Given the description of an element on the screen output the (x, y) to click on. 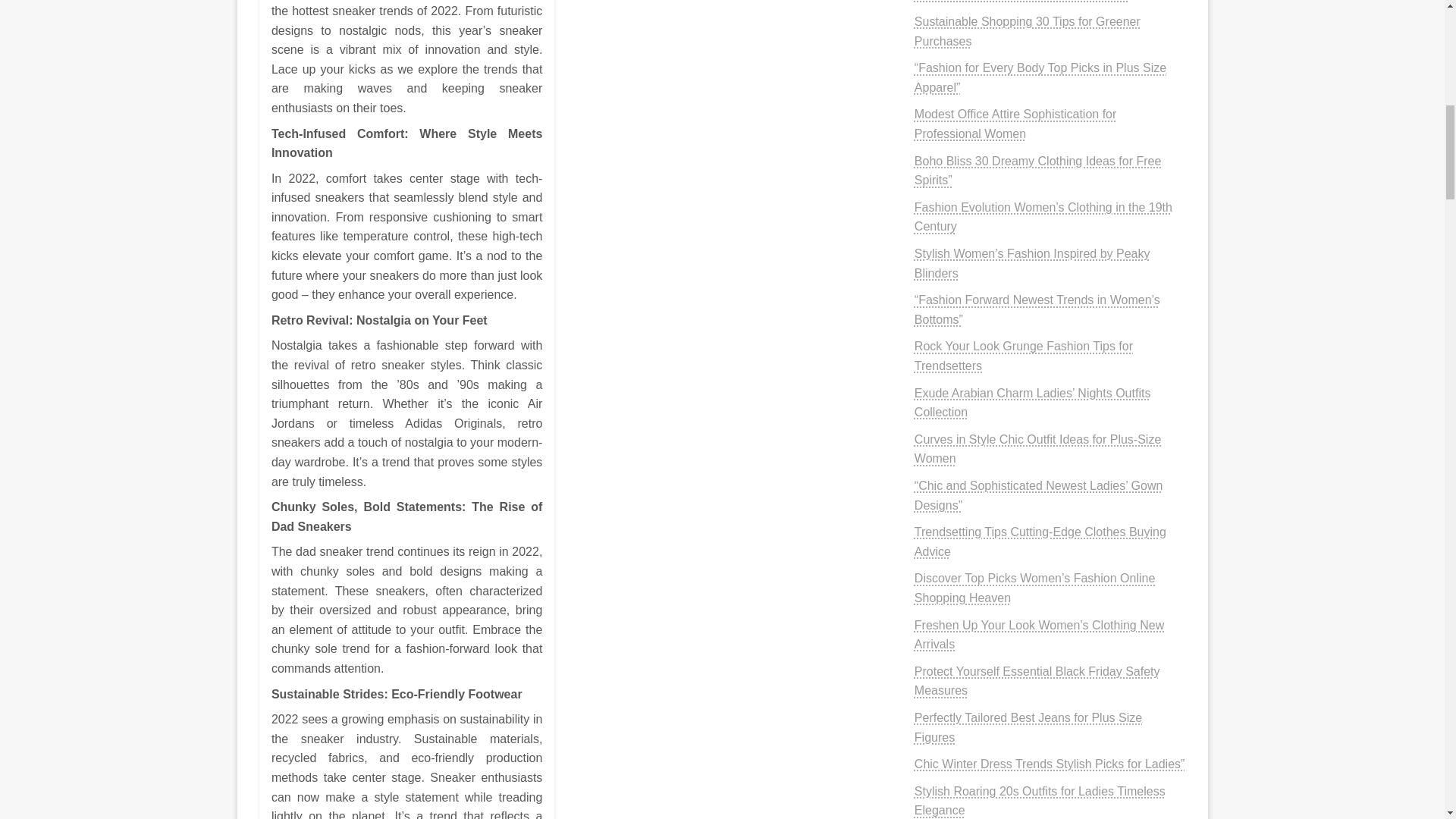
Modest Office Attire Sophistication for Professional Women (1015, 123)
Sustainable Shopping 30 Tips for Greener Purchases (1027, 31)
